Given the description of an element on the screen output the (x, y) to click on. 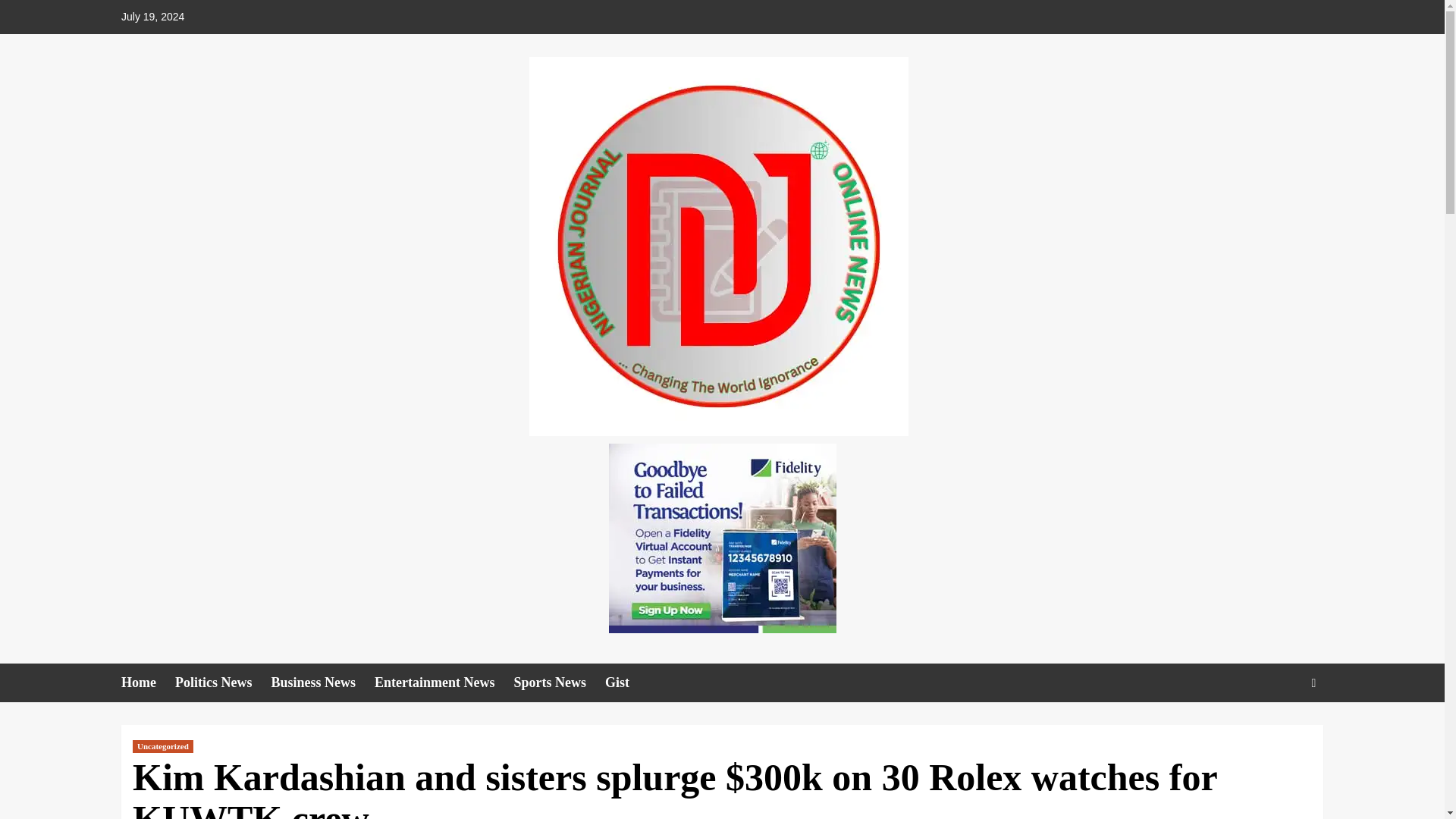
Home (147, 682)
Politics News (222, 682)
Sports News (559, 682)
Search (1278, 729)
Entertainment News (443, 682)
Uncategorized (162, 746)
Business News (322, 682)
Gist (626, 682)
